Given the description of an element on the screen output the (x, y) to click on. 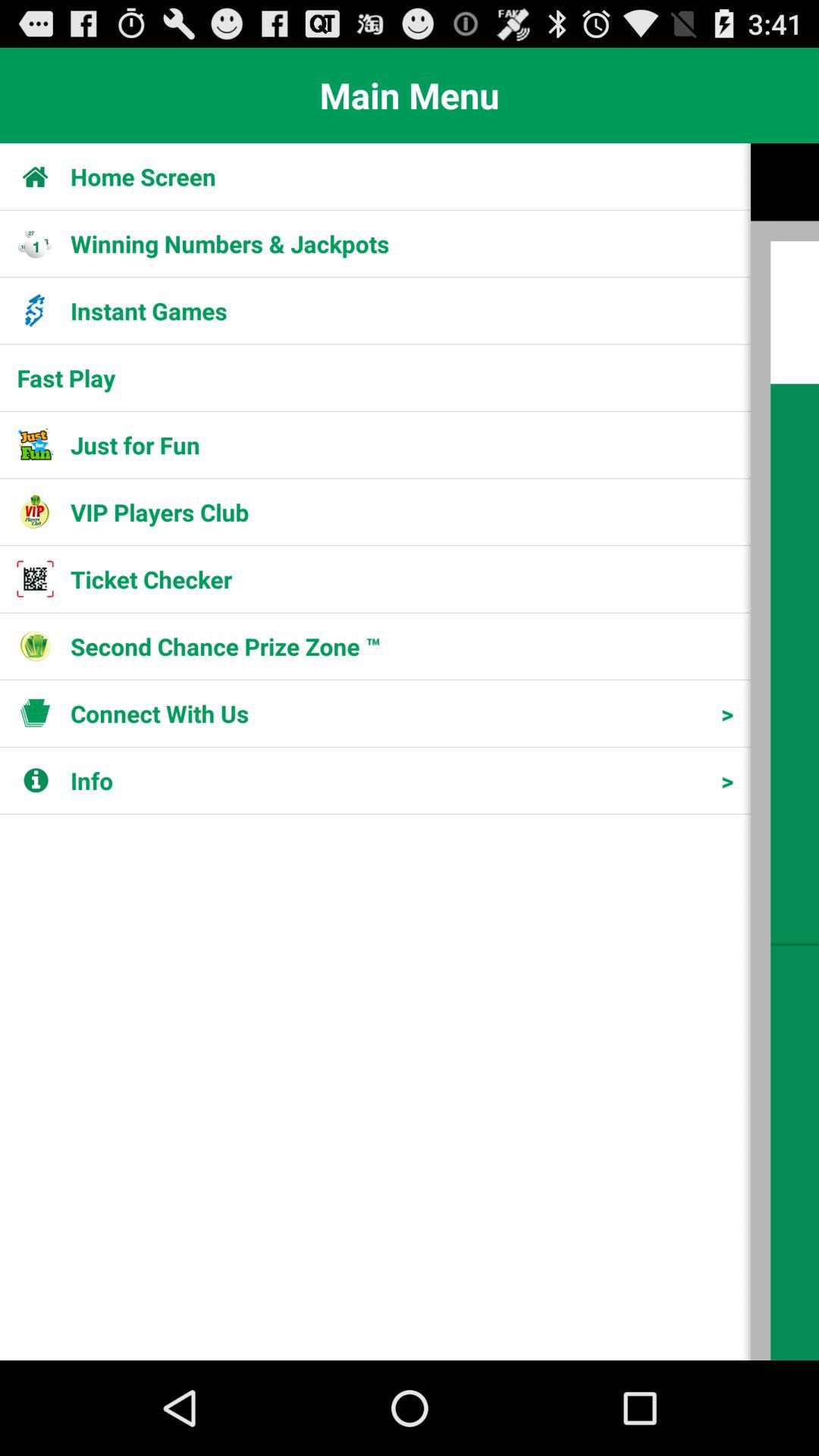
lower or raise the page (784, 751)
